Given the description of an element on the screen output the (x, y) to click on. 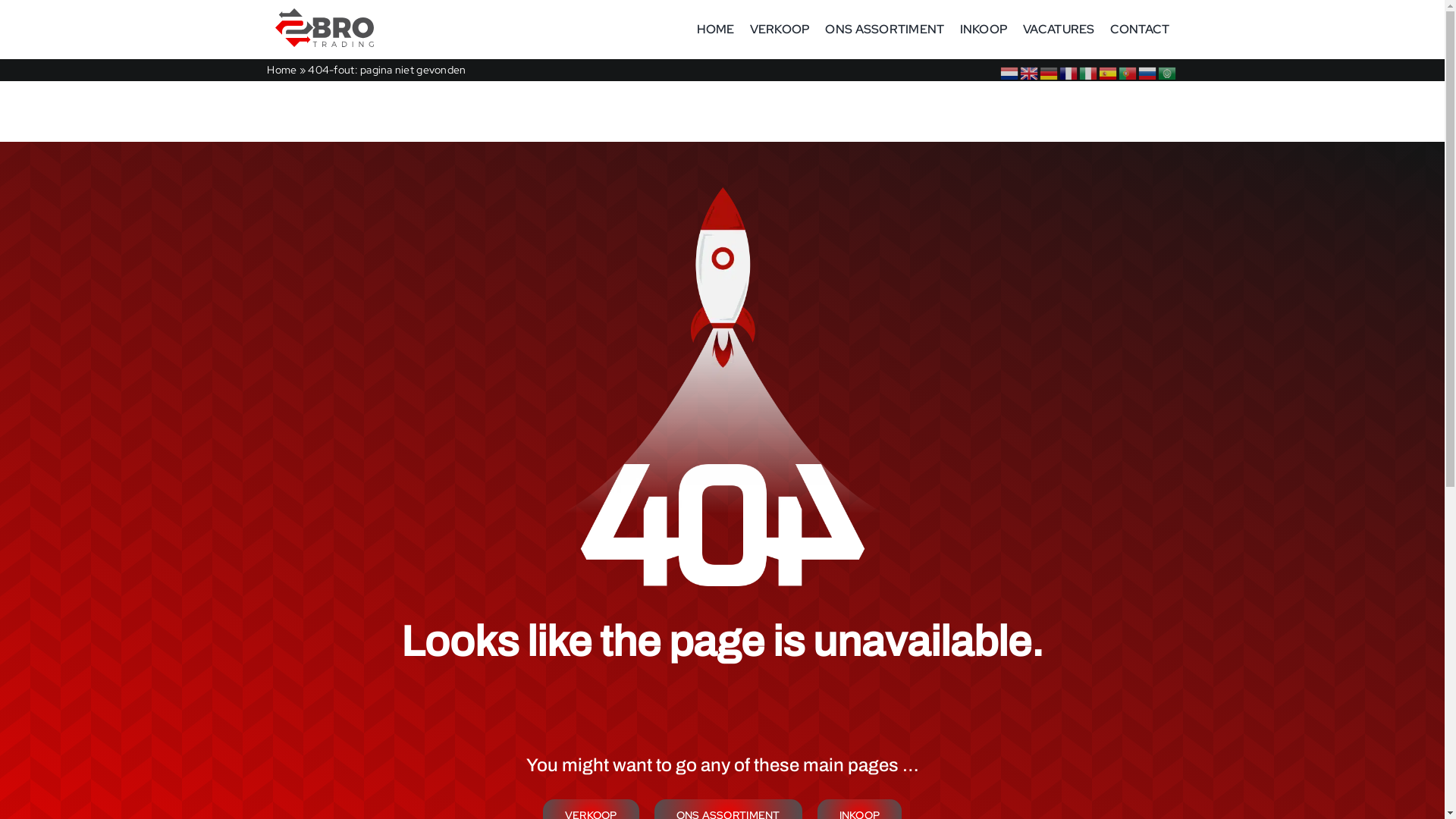
CONTACT Element type: text (1139, 29)
INKOOP Element type: text (984, 29)
HOME Element type: text (714, 29)
VACATURES Element type: text (1058, 29)
Russian Element type: hover (1147, 71)
Portuguese Element type: hover (1128, 71)
German Element type: hover (1049, 71)
Italian Element type: hover (1088, 71)
ONS ASSORTIMENT Element type: text (884, 29)
Arabic Element type: hover (1167, 71)
404-graphic Element type: hover (722, 386)
VERKOOP Element type: text (780, 29)
Home Element type: text (281, 69)
Dutch Element type: hover (1009, 71)
English Element type: hover (1029, 71)
Spanish Element type: hover (1108, 71)
French Element type: hover (1069, 71)
